Given the description of an element on the screen output the (x, y) to click on. 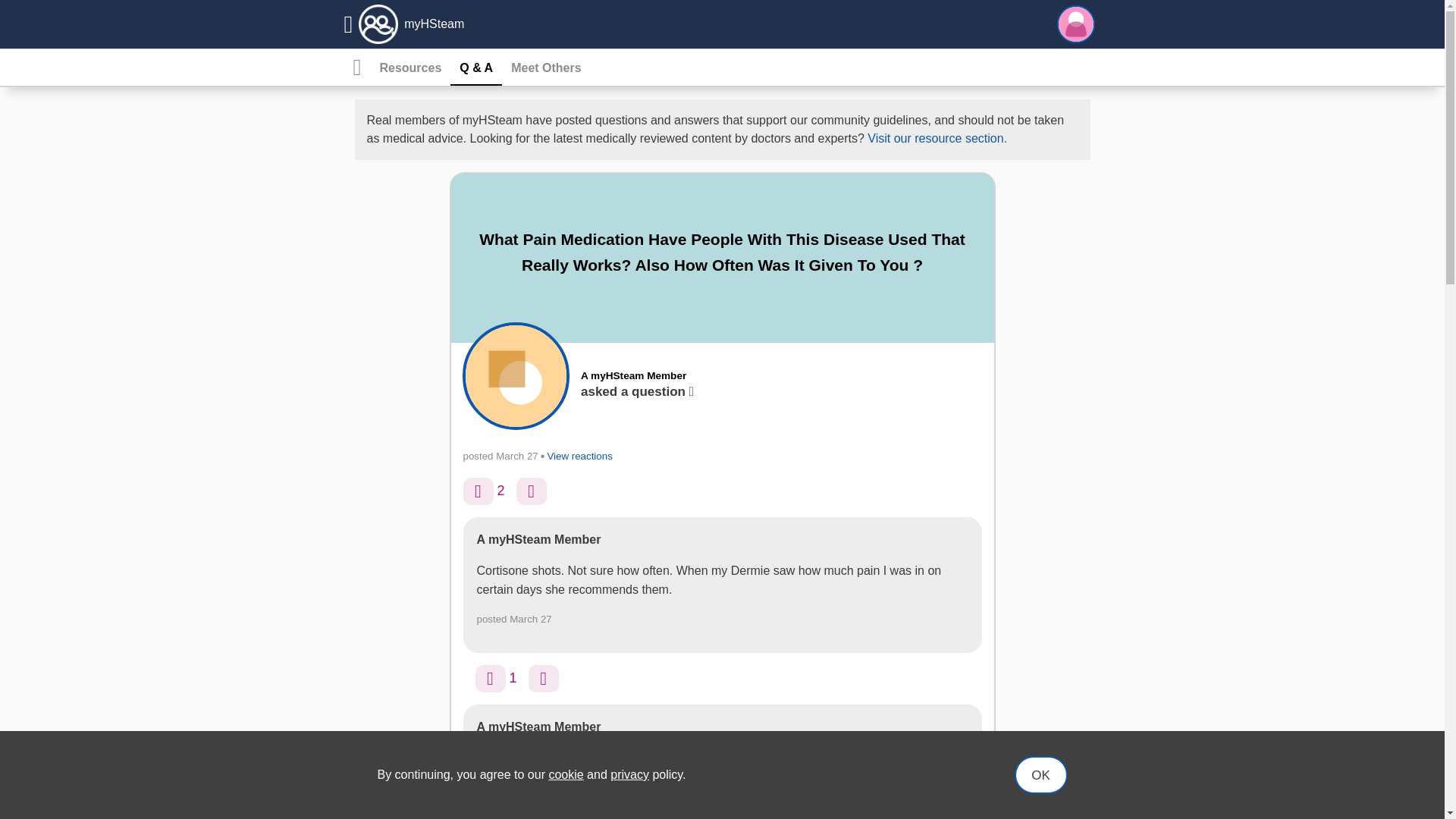
OK (1040, 774)
A myHSteam Member (632, 375)
Meet Others (545, 67)
Send a hug (543, 678)
cookie (565, 774)
OK (1040, 774)
I like this (489, 678)
Visit our resource section. (937, 137)
I like this (478, 491)
View reactions (579, 456)
